Given the description of an element on the screen output the (x, y) to click on. 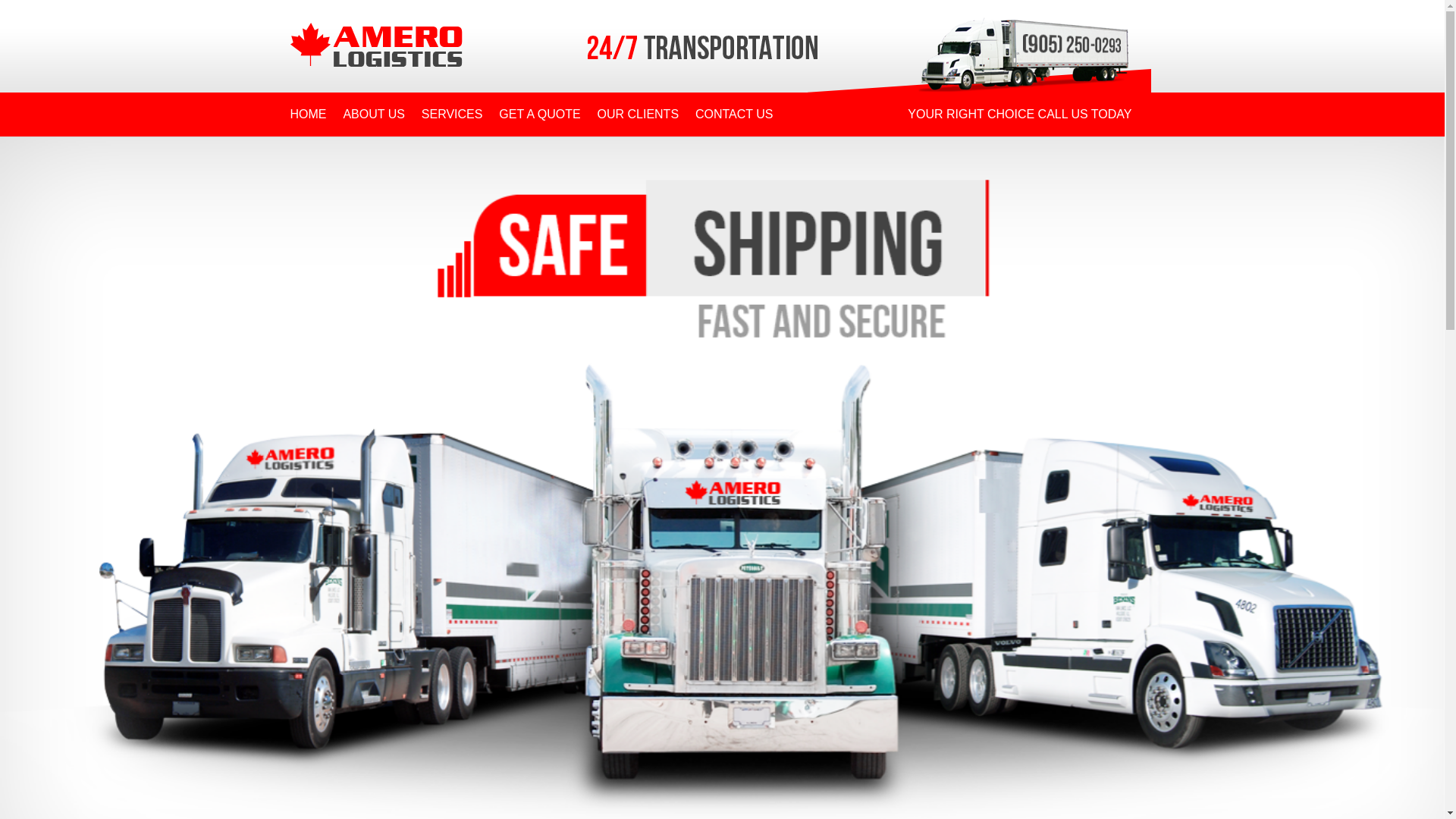
SERVICES Element type: text (452, 114)
CONTACT US Element type: text (734, 114)
GET A QUOTE Element type: text (539, 114)
HOME Element type: text (307, 114)
OUR CLIENTS Element type: text (637, 114)
ABOUT US Element type: text (373, 114)
YOUR RIGHT CHOICE CALL US TODAY Element type: text (1019, 114)
